Given the description of an element on the screen output the (x, y) to click on. 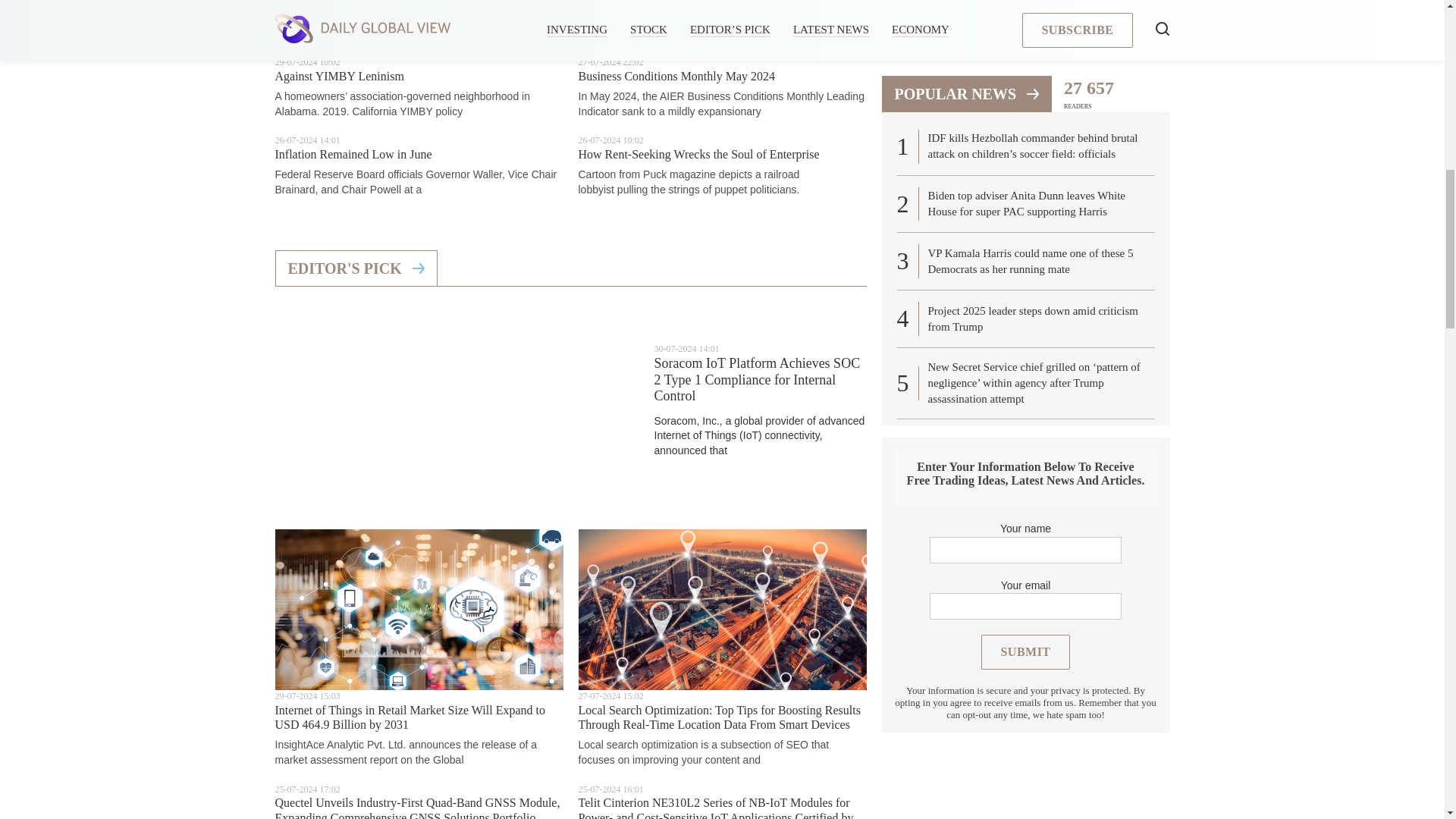
Submit (1024, 274)
